Given the description of an element on the screen output the (x, y) to click on. 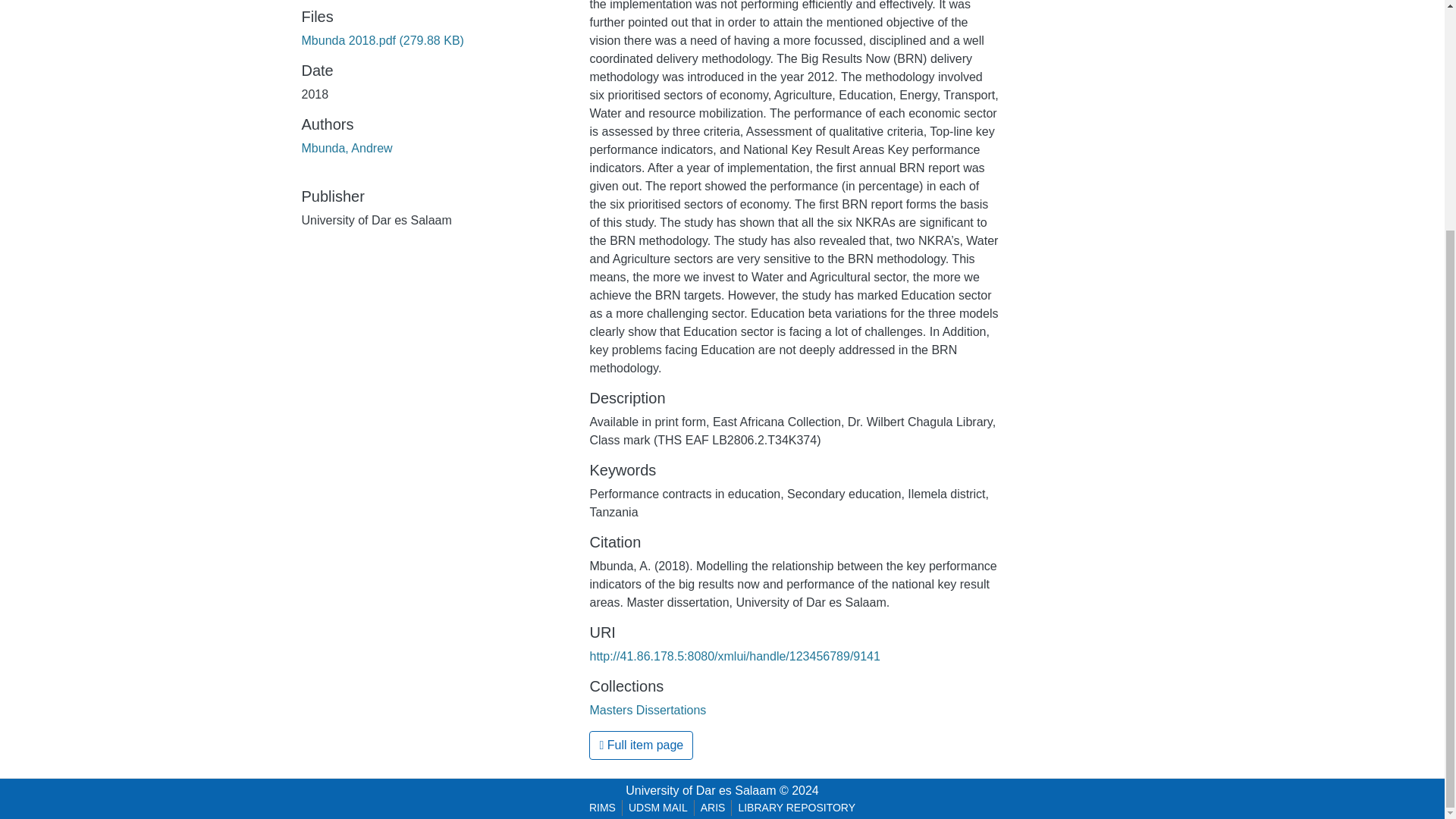
RIMS (602, 807)
ARIS (713, 807)
LIBRARY REPOSITORY (796, 807)
Mbunda, Andrew (347, 147)
UDSM MAIL (658, 807)
Masters Dissertations (647, 709)
Full item page (641, 745)
